Given the description of an element on the screen output the (x, y) to click on. 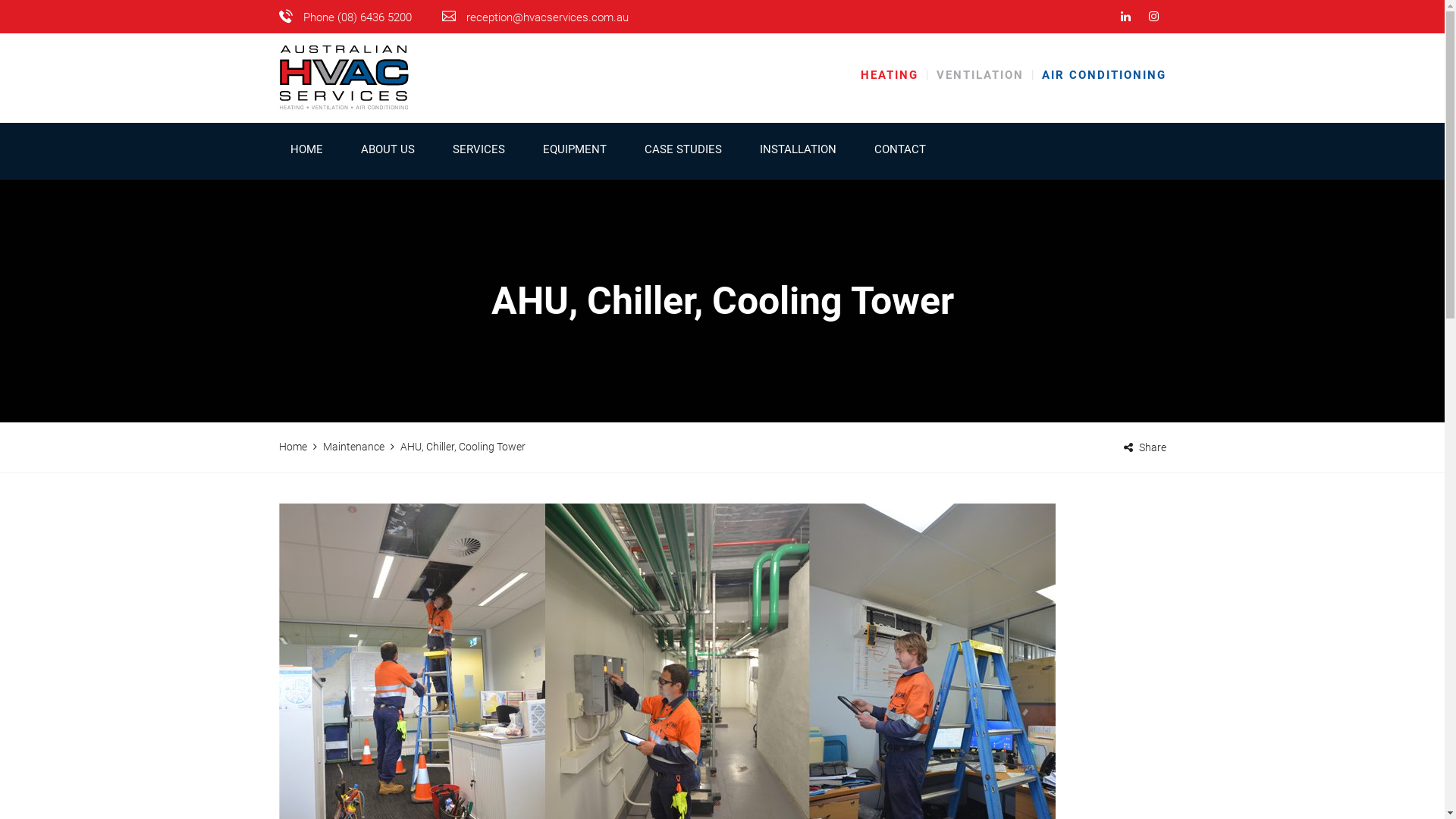
EQUIPMENT Element type: text (573, 150)
CASE STUDIES Element type: text (682, 150)
Home Element type: text (293, 446)
CONTACT Element type: text (899, 150)
ABOUT US Element type: text (386, 150)
INSTALLATION Element type: text (797, 150)
SERVICES Element type: text (478, 150)
Maintenance Element type: text (353, 446)
HOME Element type: text (306, 150)
